Given the description of an element on the screen output the (x, y) to click on. 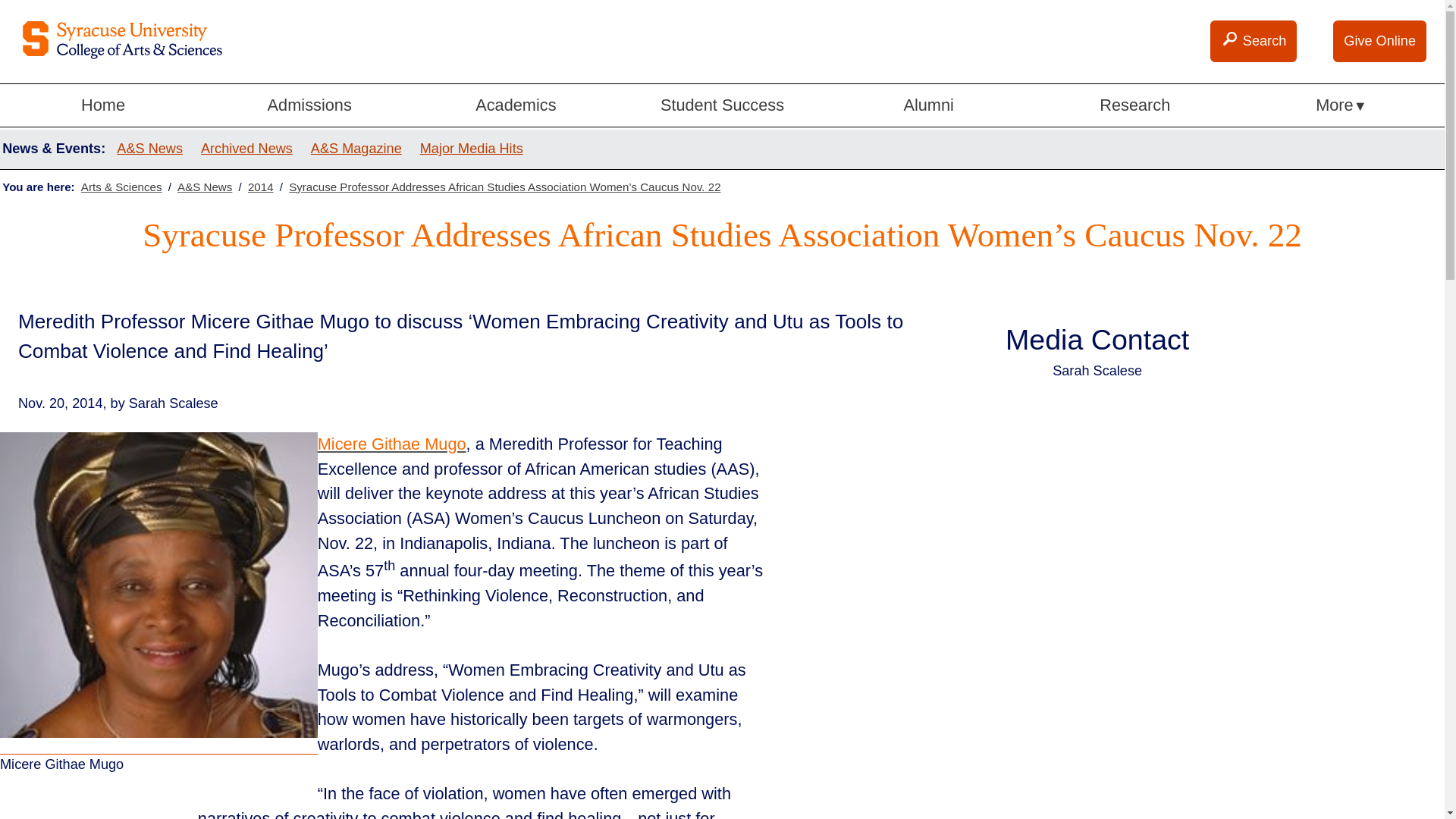
Student Success (721, 105)
Search Search (1253, 41)
Search (1230, 38)
Give Online (1379, 41)
Academics (515, 105)
Alumni (928, 105)
Home (103, 105)
Research (1135, 105)
Admissions (309, 105)
